Given the description of an element on the screen output the (x, y) to click on. 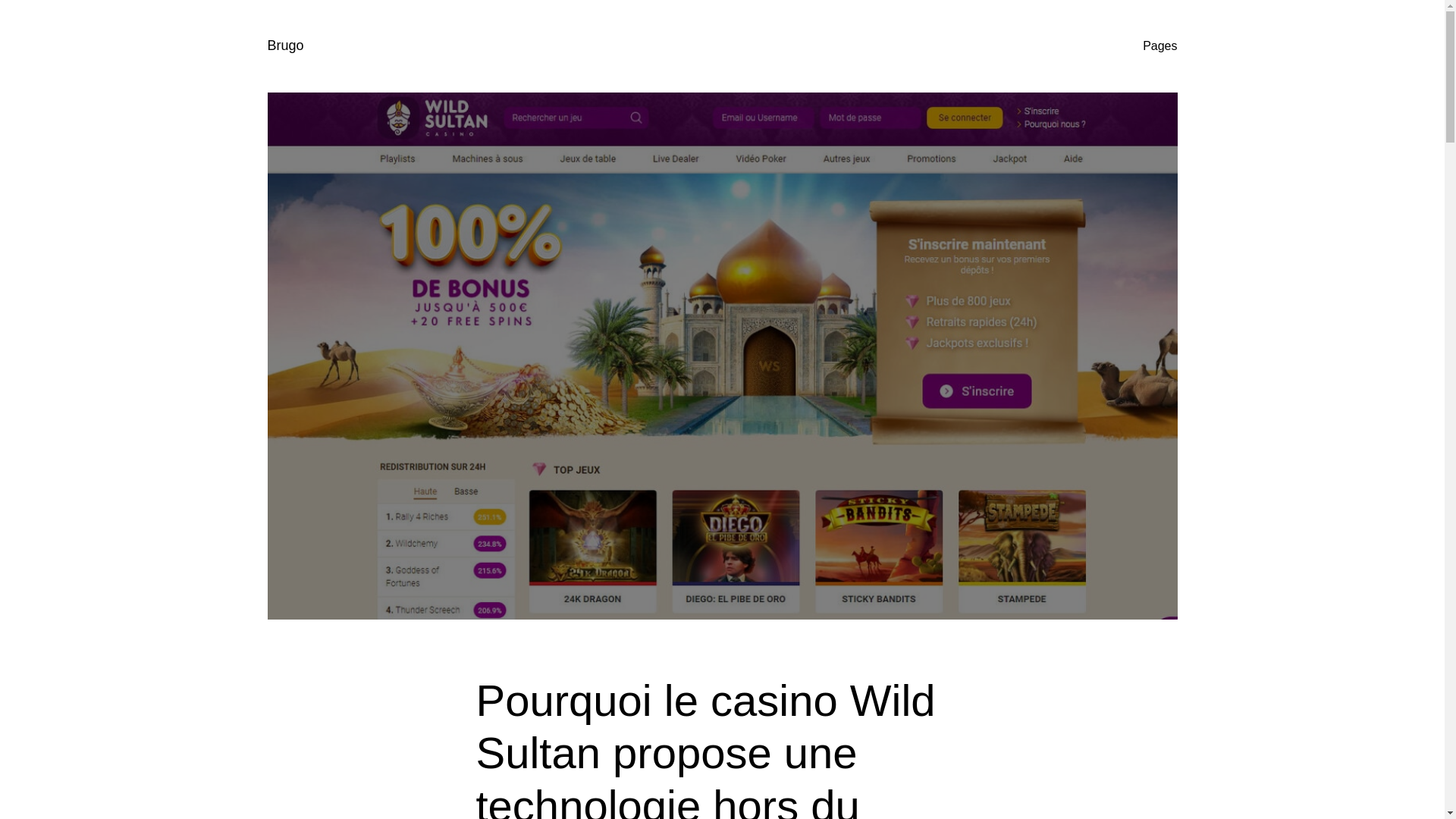
Pages Element type: text (1159, 46)
Brugo Element type: text (284, 45)
